Given the description of an element on the screen output the (x, y) to click on. 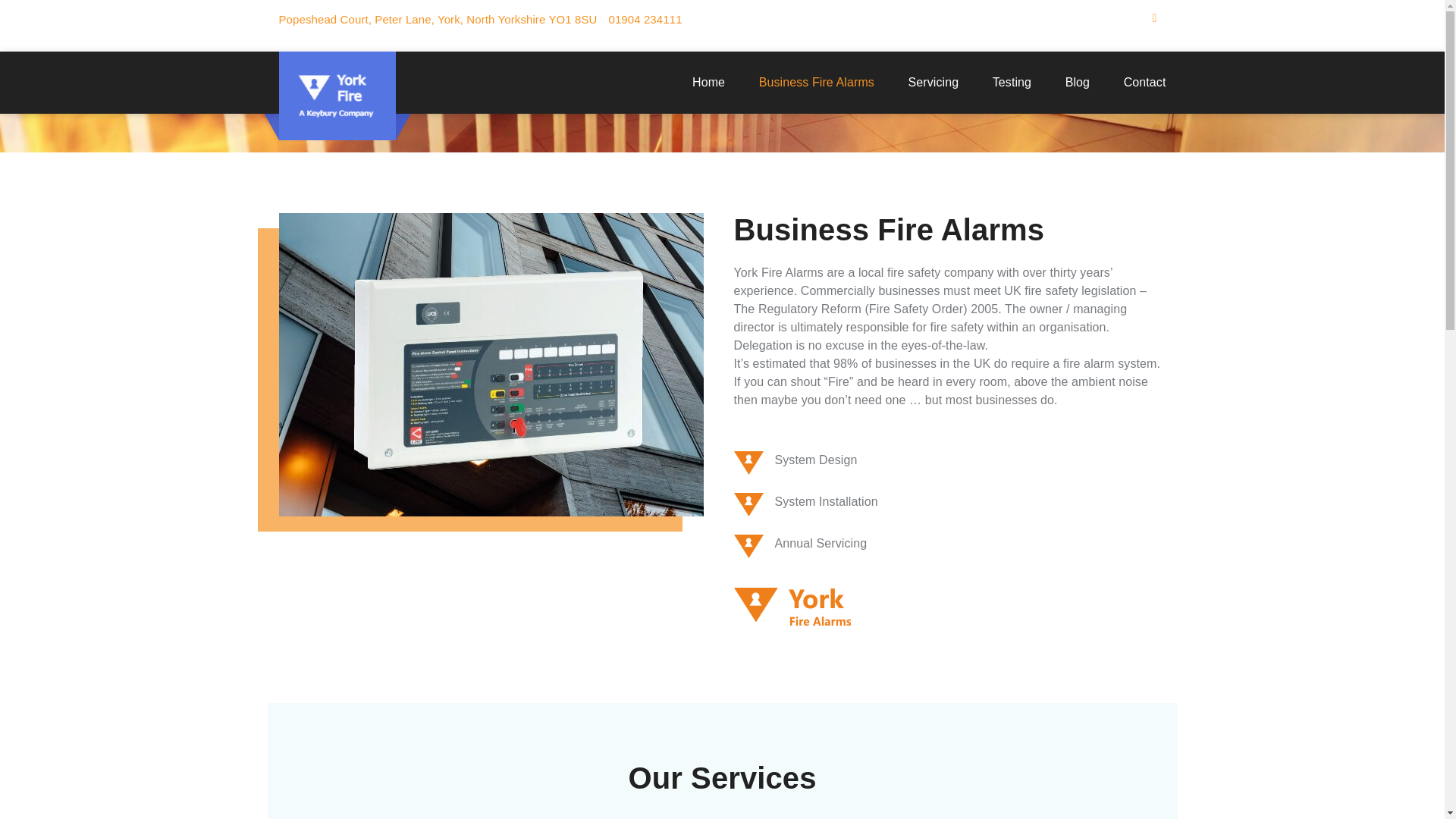
Business Fire Alarms (816, 82)
Contact (1137, 82)
Testing (1011, 82)
Blog (1077, 82)
Home (708, 82)
Servicing (933, 82)
Home (659, 93)
